Given the description of an element on the screen output the (x, y) to click on. 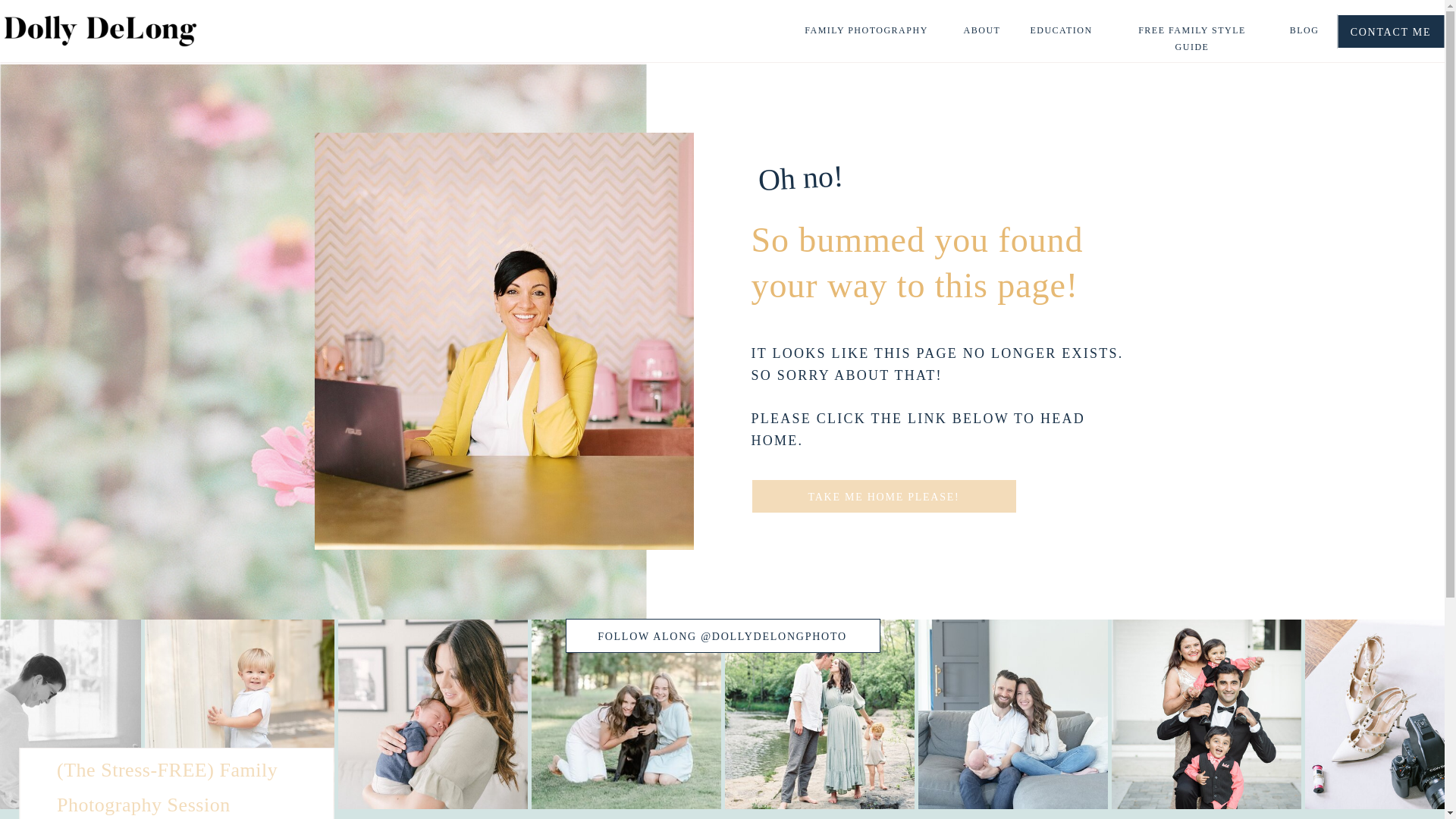
EDUCATION (1061, 31)
BLOG (1303, 31)
FREE FAMILY STYLE GUIDE (1192, 31)
TAKE ME HOME PLEASE! (883, 495)
CONTACT ME (1389, 31)
ABOUT (981, 31)
FAMILY PHOTOGRAPHY (865, 31)
